Given the description of an element on the screen output the (x, y) to click on. 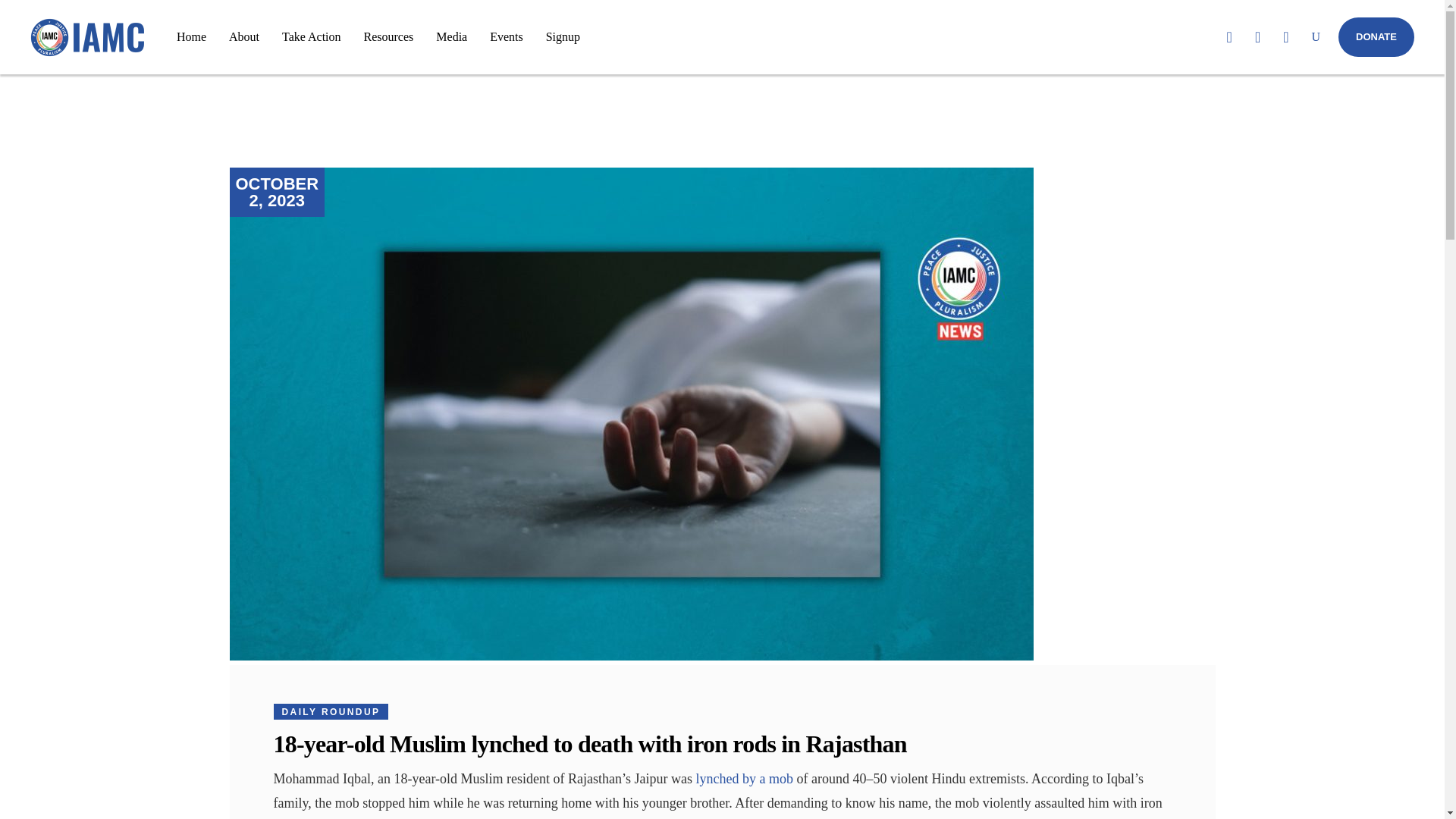
Home (190, 36)
Media (452, 36)
Take Action (311, 36)
Signup (562, 36)
Events (506, 36)
About (243, 36)
Resources (388, 36)
DONATE (1375, 36)
